Given the description of an element on the screen output the (x, y) to click on. 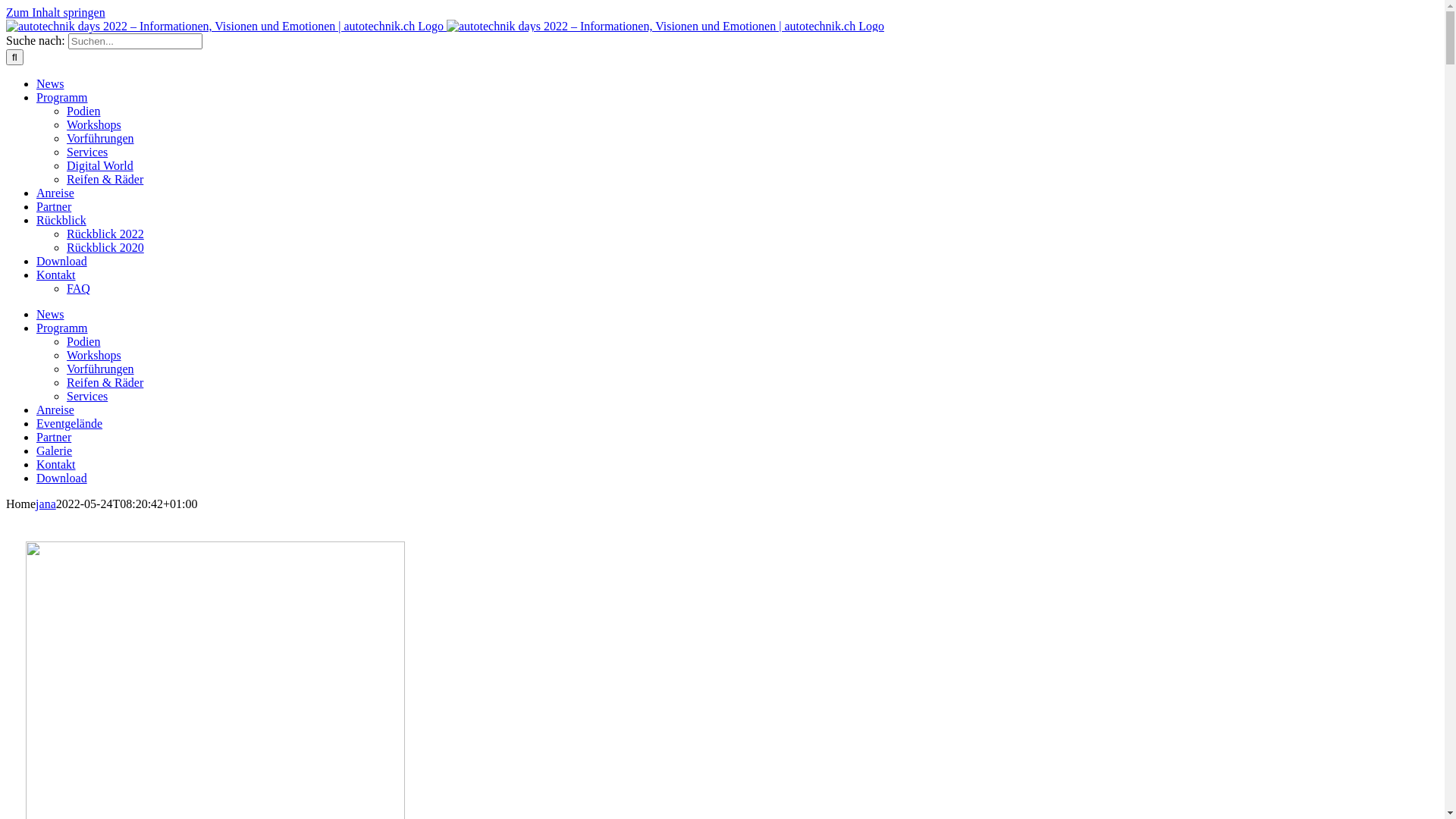
Partner Element type: text (53, 436)
Services Element type: text (86, 151)
Podien Element type: text (83, 341)
Digital World Element type: text (99, 165)
Zum Inhalt springen Element type: text (55, 12)
Galerie Element type: text (54, 450)
FAQ Element type: text (78, 288)
Programm Element type: text (61, 97)
News Element type: text (49, 313)
Partner Element type: text (53, 206)
Services Element type: text (86, 395)
News Element type: text (49, 83)
Kontakt Element type: text (55, 274)
Workshops Element type: text (93, 354)
Kontakt Element type: text (55, 464)
Anreise Element type: text (55, 409)
jana Element type: text (45, 503)
Podien Element type: text (83, 110)
Download Element type: text (61, 260)
Workshops Element type: text (93, 124)
Download Element type: text (61, 477)
Programm Element type: text (61, 327)
Anreise Element type: text (55, 192)
